Given the description of an element on the screen output the (x, y) to click on. 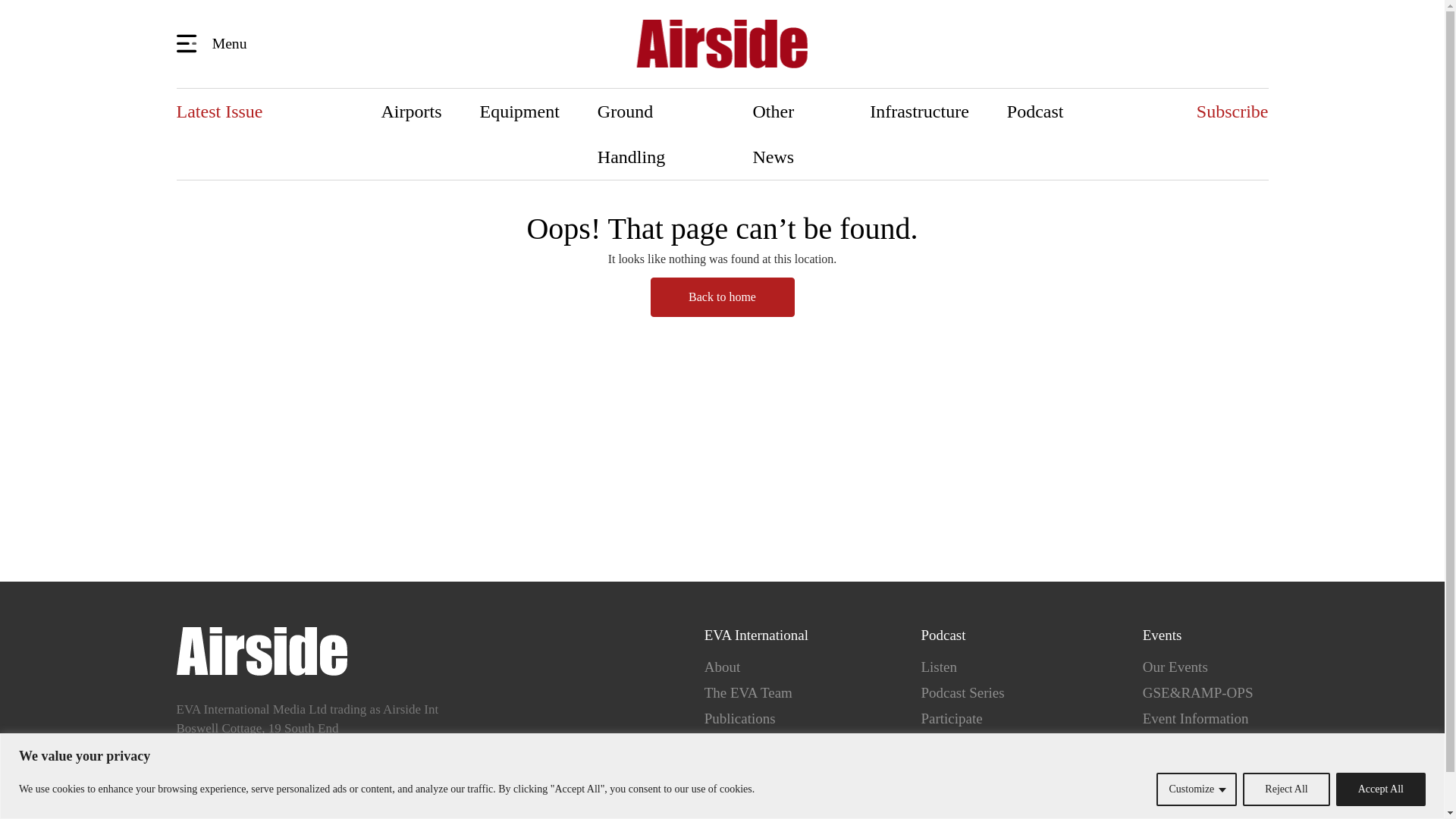
Reject All (1286, 788)
Podcast (1035, 111)
Accept All (1380, 788)
Ground Handling (655, 133)
Customize (1196, 788)
Infrastructure (919, 111)
Latest Issue (219, 111)
Menu (213, 42)
Other News (792, 133)
Airside International (722, 43)
